Given the description of an element on the screen output the (x, y) to click on. 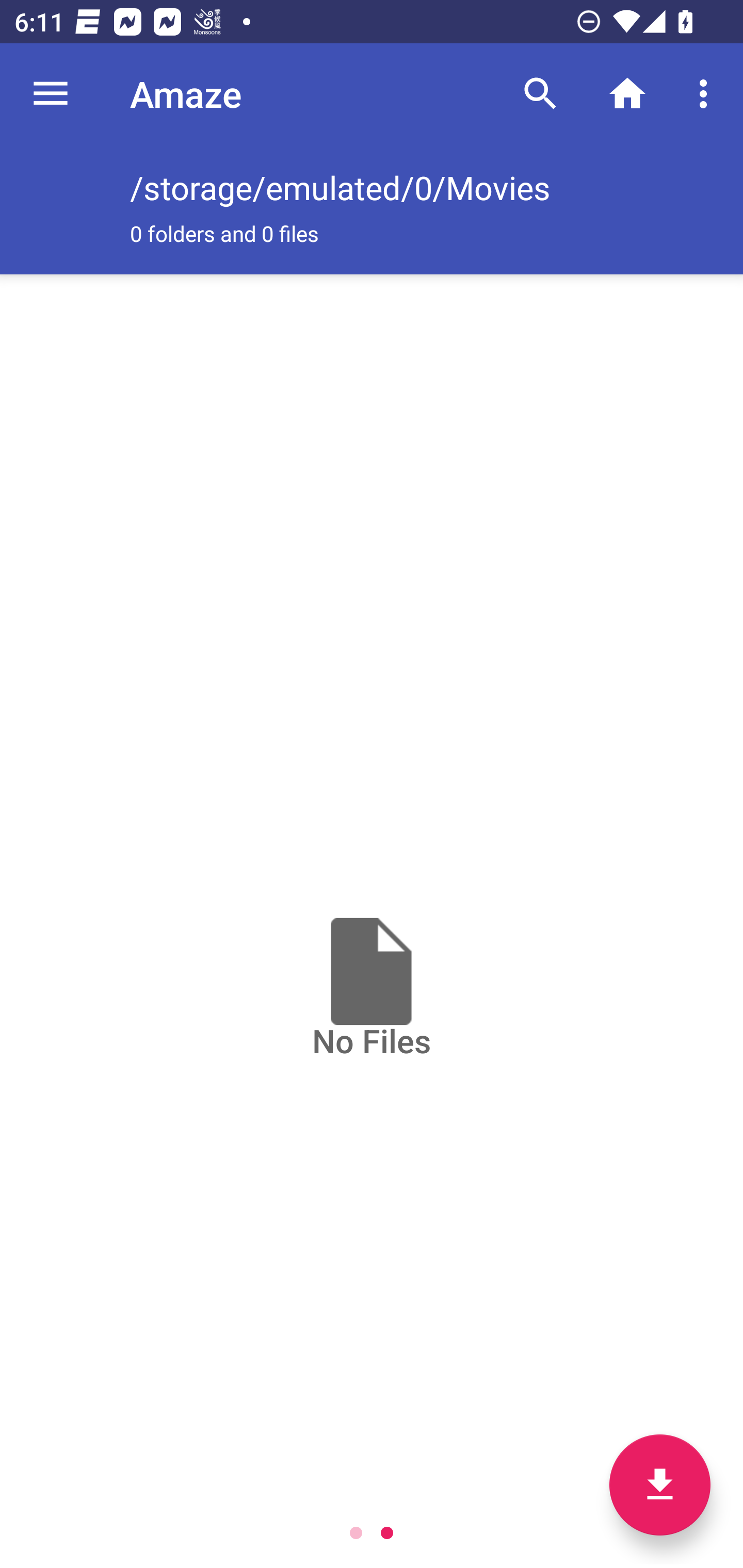
Navigate up (50, 93)
Search (540, 93)
Home (626, 93)
More options (706, 93)
